Given the description of an element on the screen output the (x, y) to click on. 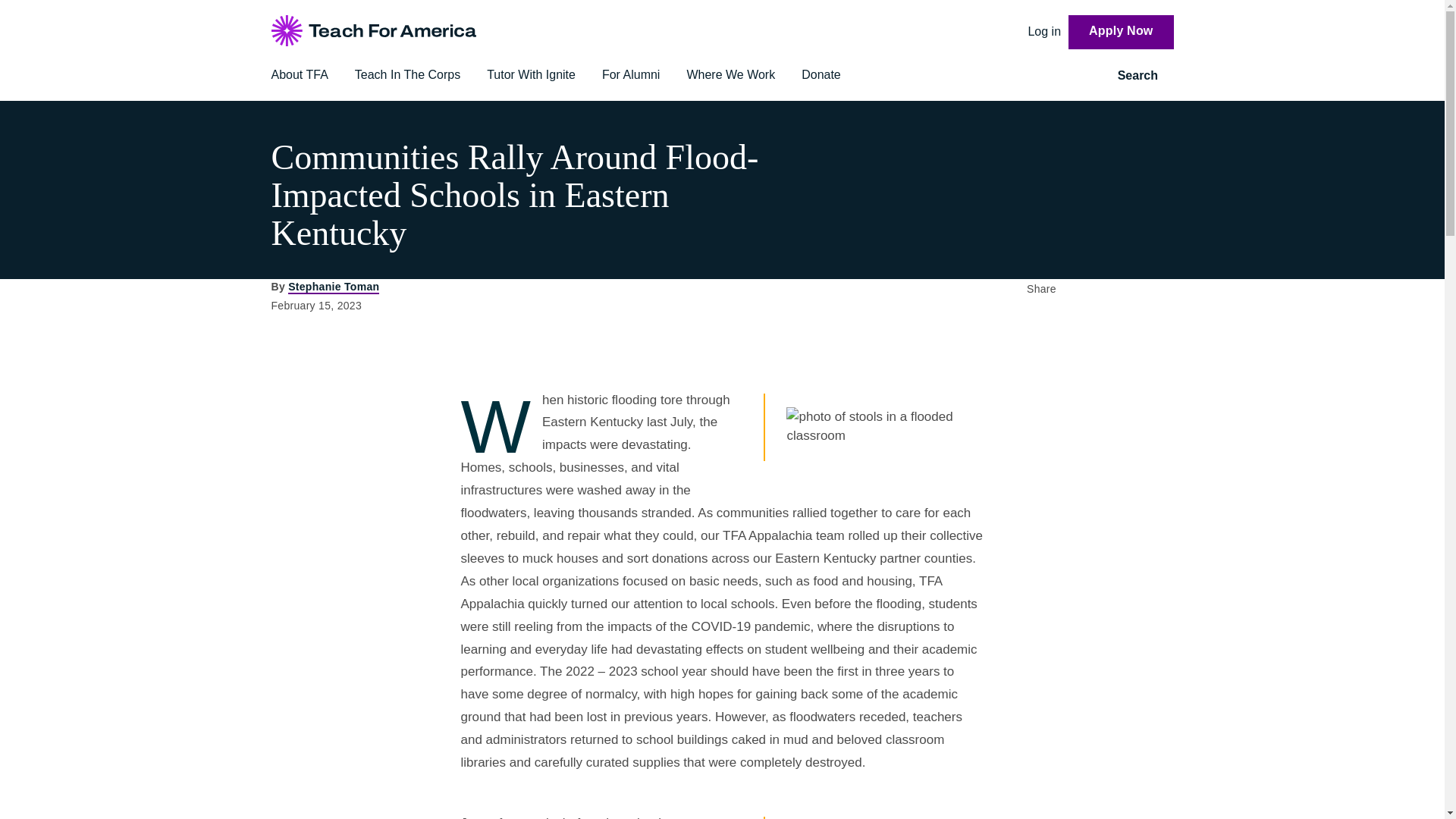
Stephanie Toman (333, 287)
Search Search Icon (1145, 75)
Donate (821, 74)
About TFA (299, 74)
Apply Now (1120, 32)
Teach In The Corps (407, 74)
Search Icon (1167, 76)
For Alumni (630, 74)
Tutor With Ignite (530, 74)
Where We Work (729, 74)
